Given the description of an element on the screen output the (x, y) to click on. 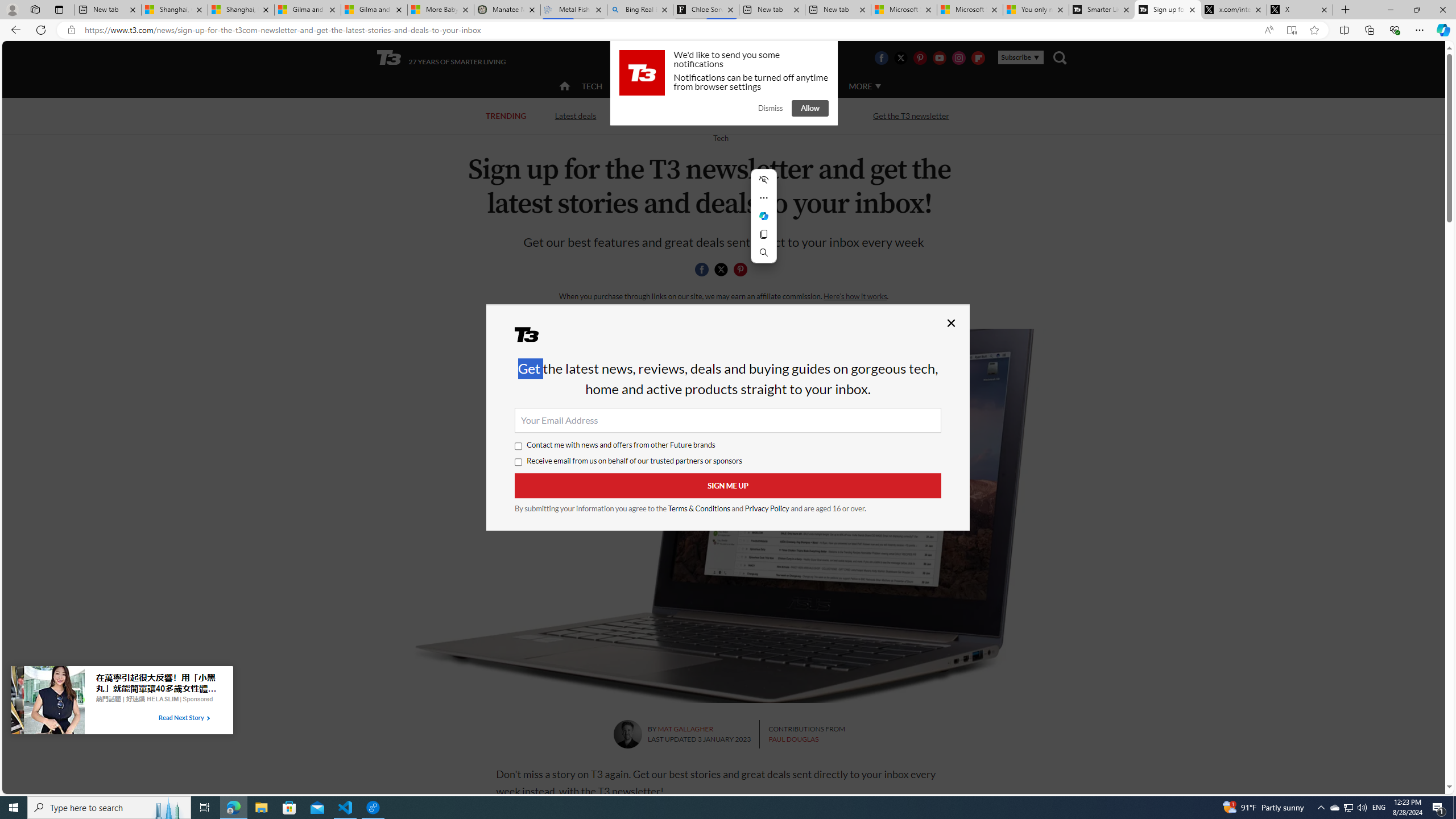
Class: icon-svg (739, 269)
Image for Taboola Advertising Unit (47, 702)
Address and search bar (669, 29)
Close (950, 322)
TECH (591, 86)
Sign me up (727, 485)
Search (763, 252)
Hide menu (763, 179)
Class: tbl-arrow-icon arrow-2 (208, 717)
Mat Gallagher (627, 734)
Class: tbl-arrow-icon arrow-1 (208, 717)
Browser essentials (1394, 29)
ACTIVE (638, 86)
